Given the description of an element on the screen output the (x, y) to click on. 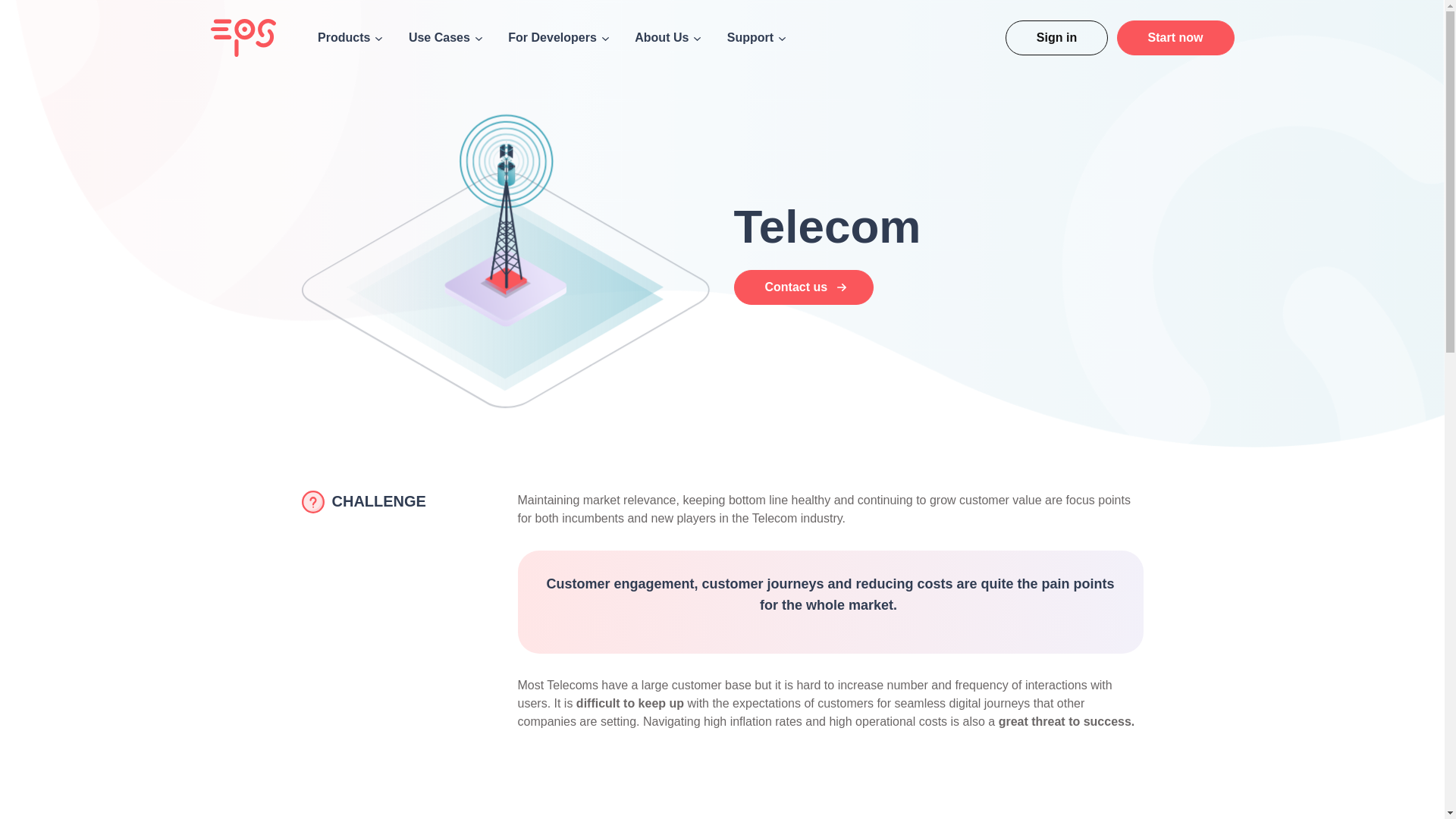
Use Cases (445, 37)
For Developers (558, 37)
About Us (667, 37)
Support (756, 37)
Sign in (1057, 37)
Products (349, 37)
